Given the description of an element on the screen output the (x, y) to click on. 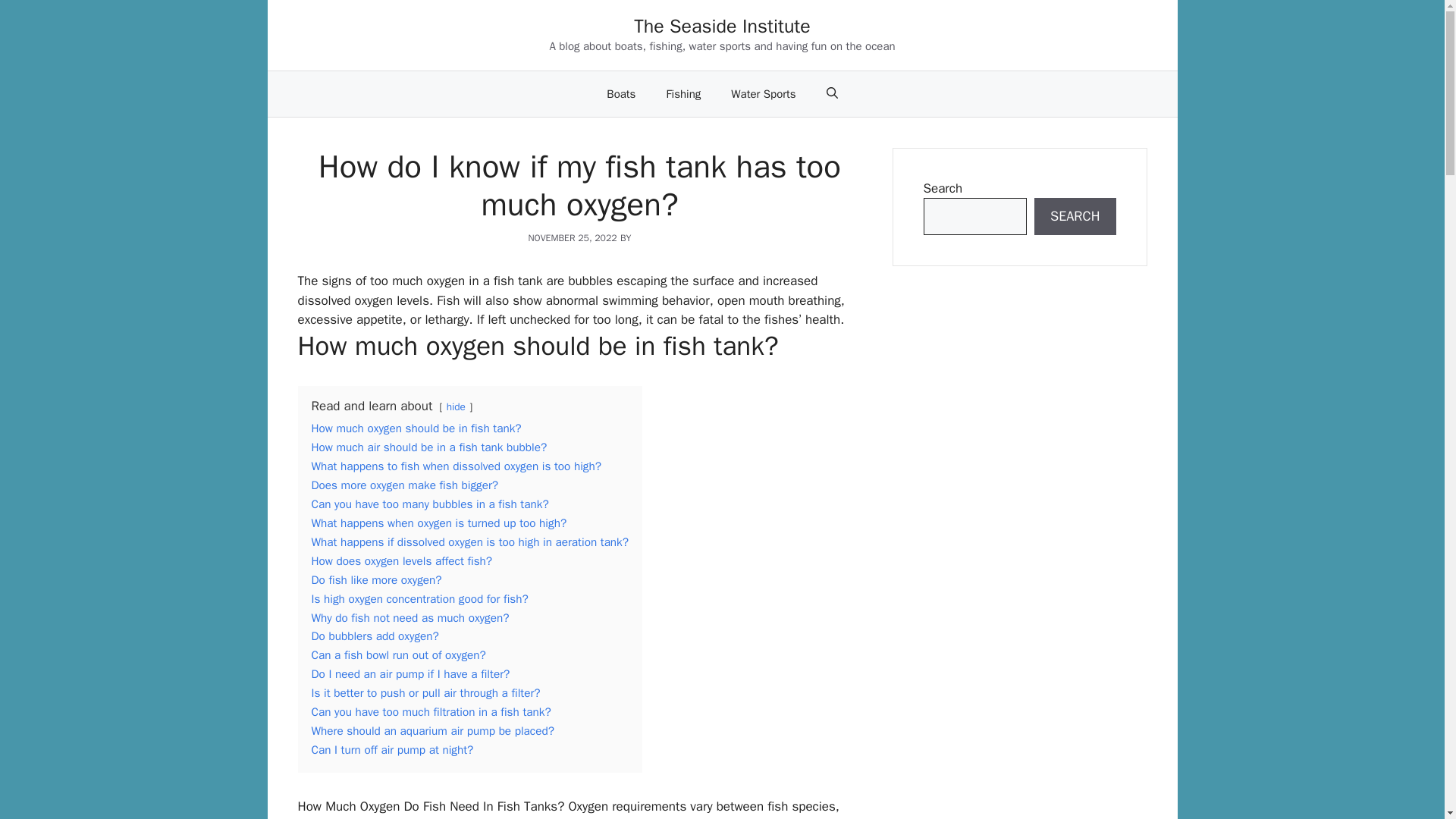
Do fish like more oxygen? (376, 580)
Boats (620, 94)
Where should an aquarium air pump be placed? (432, 730)
Can a fish bowl run out of oxygen? (397, 654)
Can I turn off air pump at night? (392, 749)
Water Sports (763, 94)
The Seaside Institute (721, 25)
Can you have too many bubbles in a fish tank? (429, 503)
Why do fish not need as much oxygen? (409, 617)
Can you have too much filtration in a fish tank? (430, 711)
